Given the description of an element on the screen output the (x, y) to click on. 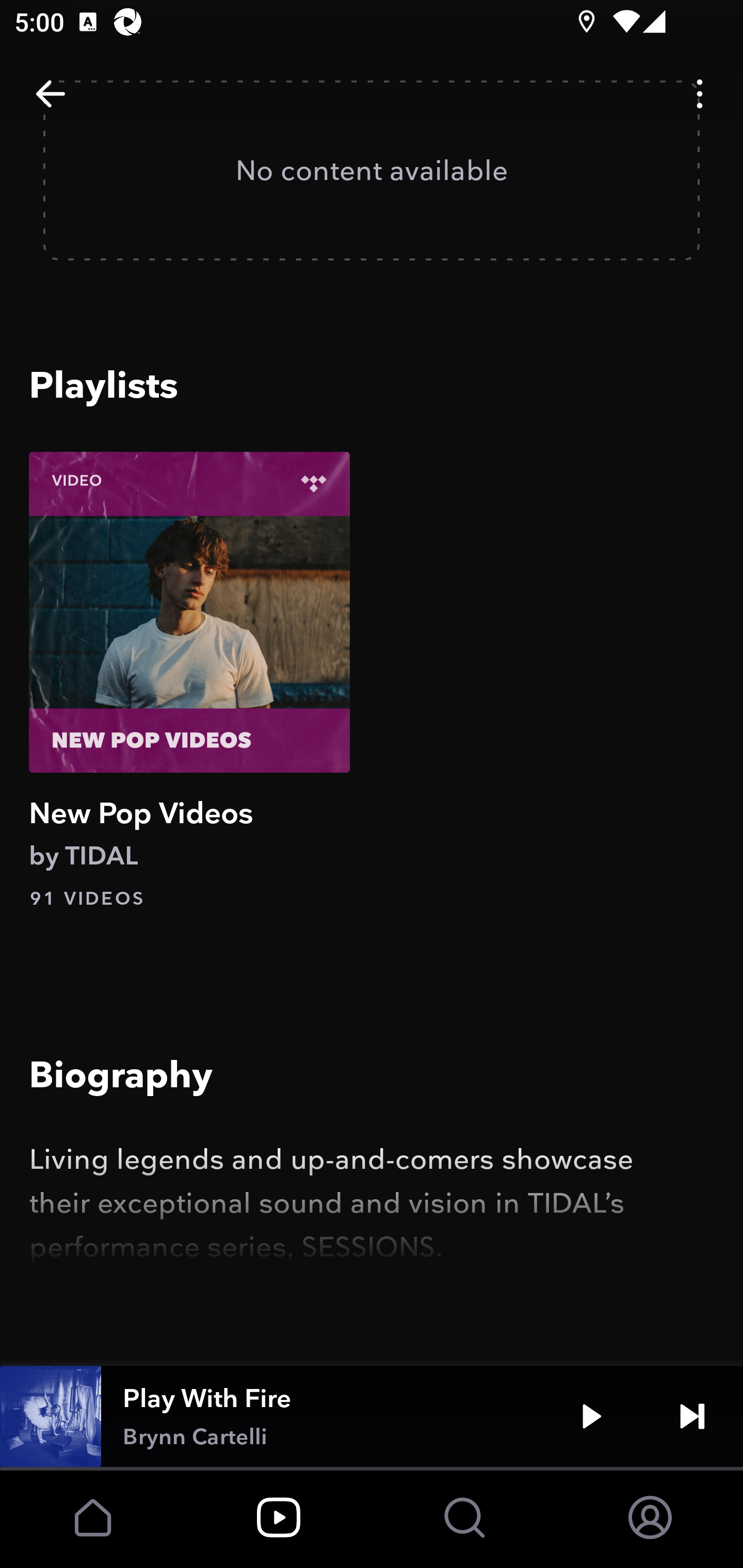
Options (699, 93)
New Pop Videos by TIDAL 91 VIDEOS (188, 681)
Play With Fire Brynn Cartelli Play (371, 1416)
Play (590, 1416)
